Given the description of an element on the screen output the (x, y) to click on. 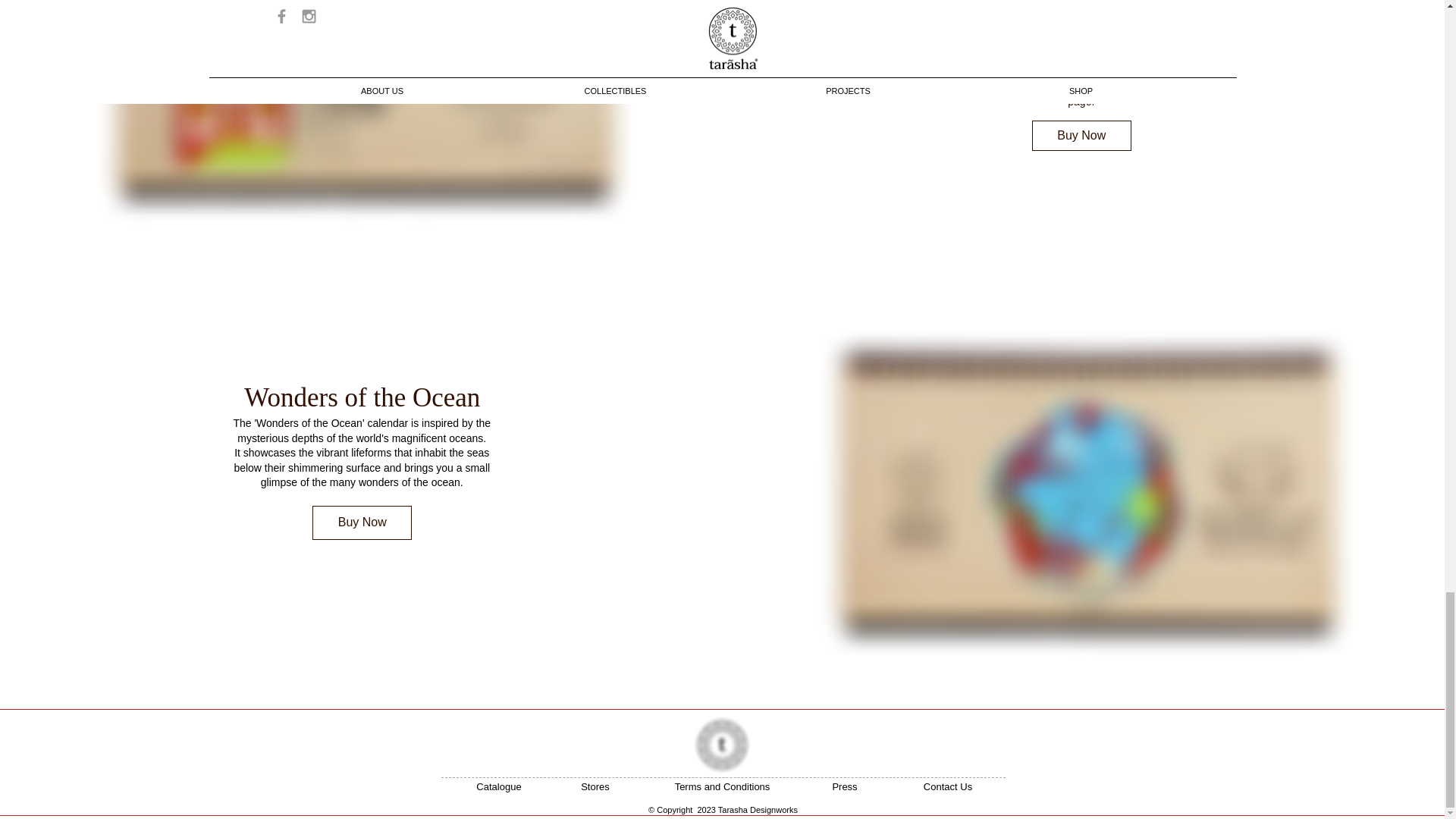
Buy Now (362, 522)
Catalogue (498, 787)
Buy Now (1081, 135)
Contact Us (946, 787)
Terms and Conditions (721, 787)
Press (843, 787)
Stores (595, 787)
